Given the description of an element on the screen output the (x, y) to click on. 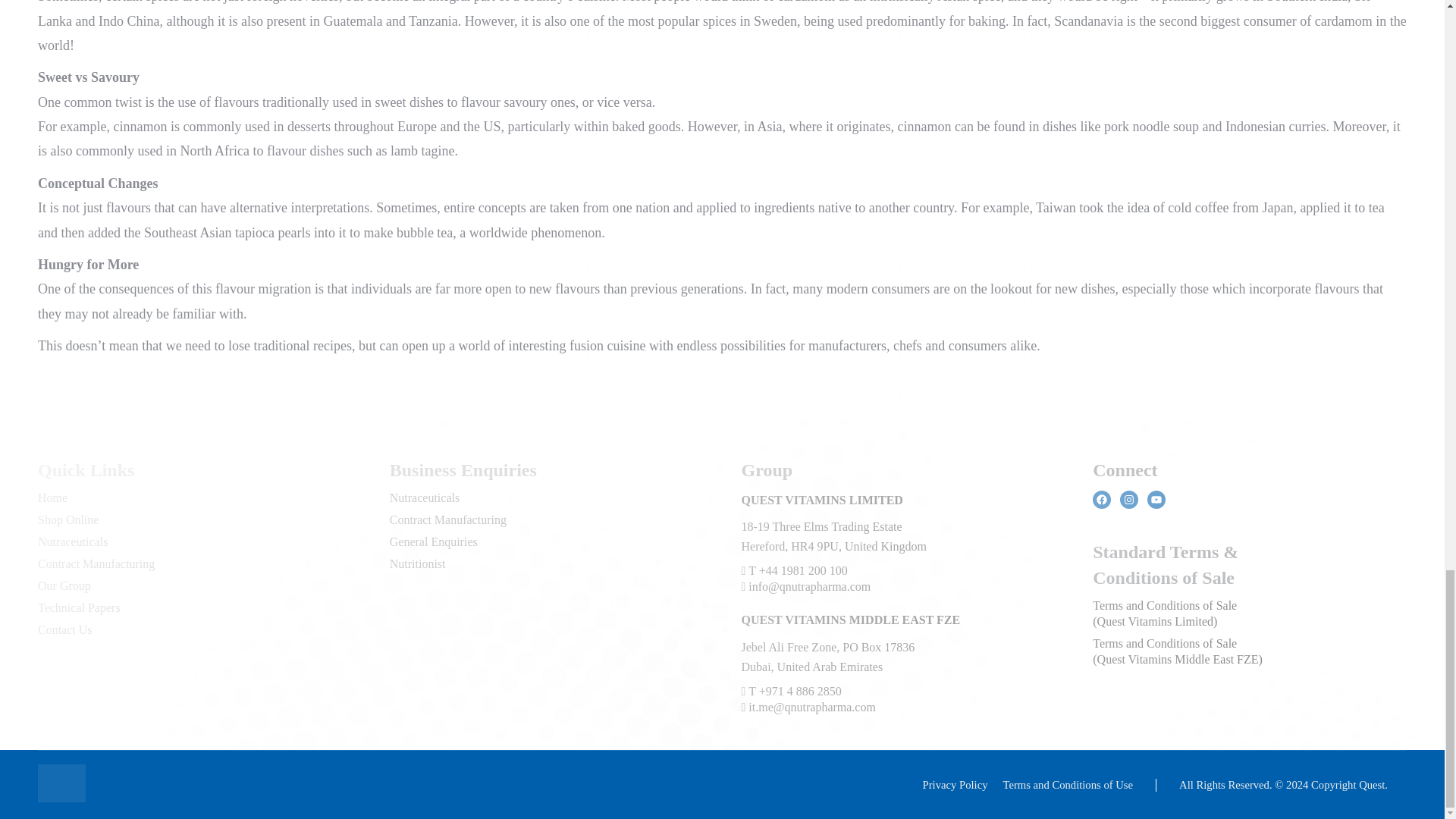
Contract Manufacturing (95, 563)
Our Group (63, 585)
Nutraceuticals (72, 541)
Home (51, 497)
Technical Papers (78, 607)
Nutritionist (417, 563)
General Enquiries (433, 541)
Shop Online (68, 519)
Contract Manufacturing (448, 519)
Nutraceuticals (425, 497)
Contact Us (65, 629)
